Given the description of an element on the screen output the (x, y) to click on. 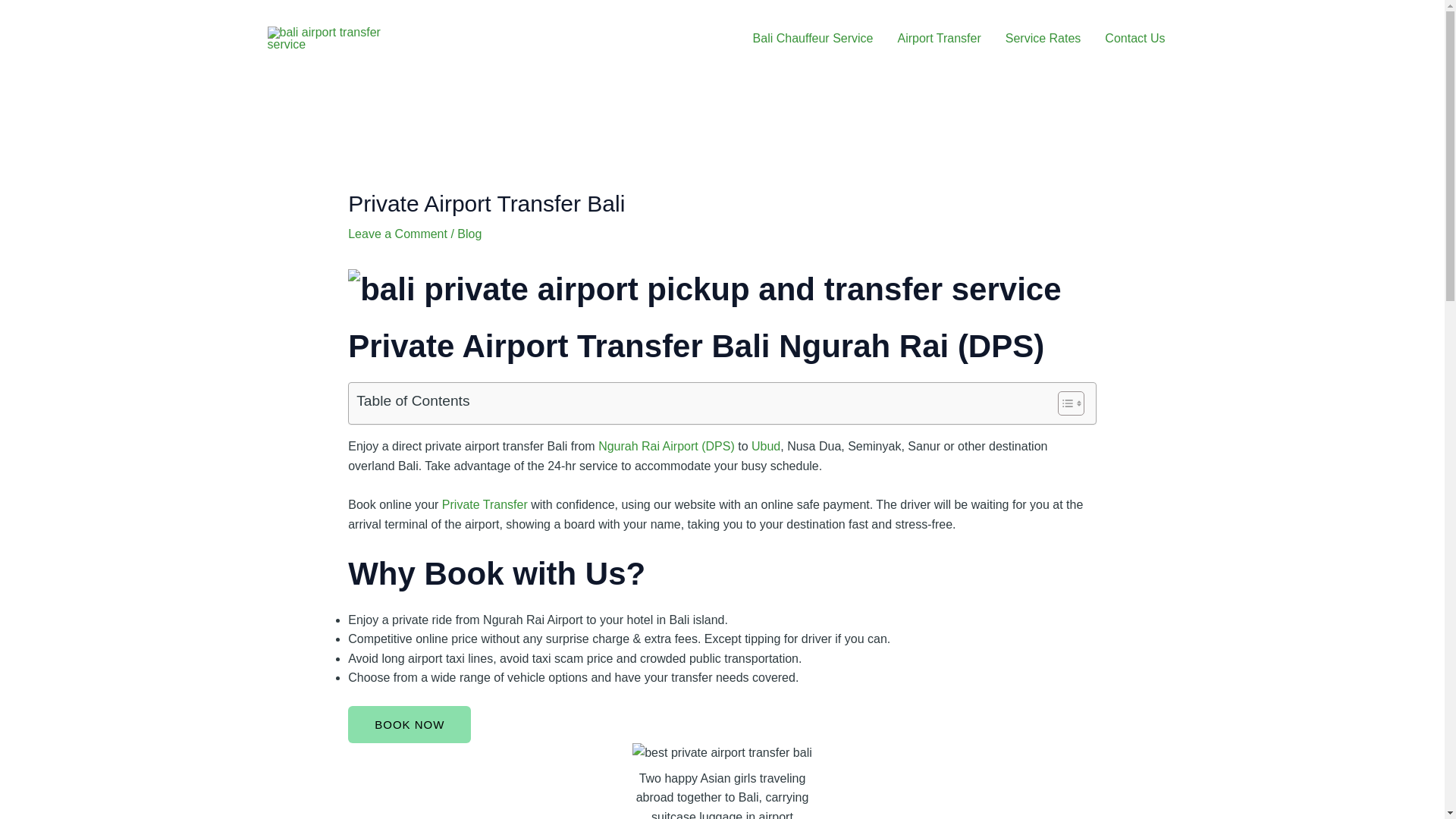
Bali Airport Transfers (704, 290)
Contact Us (1134, 38)
BOOK NOW (408, 723)
Leave a Comment (396, 233)
Service Rates (1042, 38)
Airport Transfer (938, 38)
Blog (469, 233)
Private Transfer (484, 504)
Bali Chauffeur Service (813, 38)
Ubud (765, 445)
Bali Airport Transfers (721, 752)
